Given the description of an element on the screen output the (x, y) to click on. 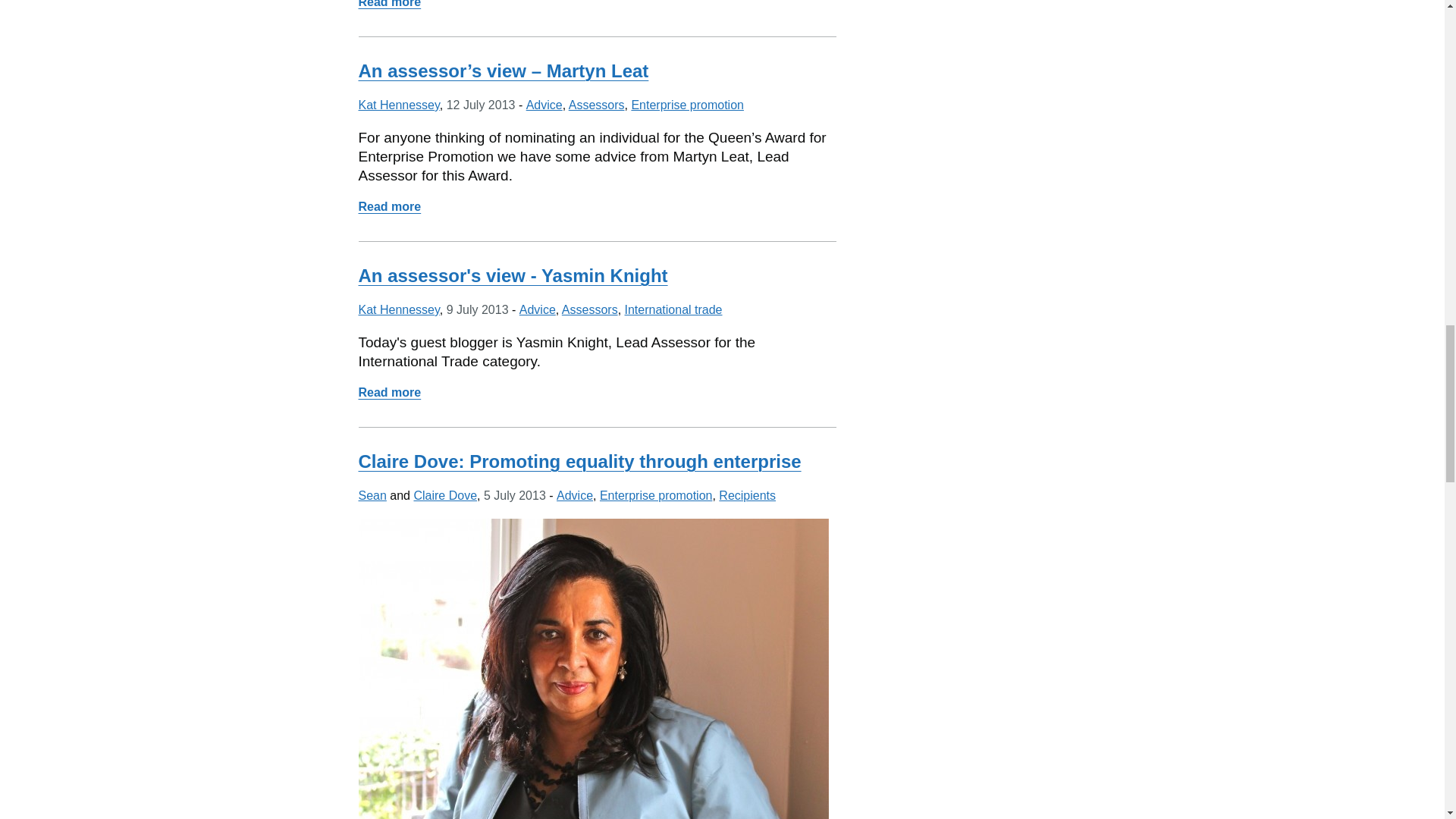
Advice (574, 495)
Enterprise promotion (687, 104)
Posts by Kat Hennessey (398, 104)
Recipients (747, 495)
An assessor's view - Yasmin Knight (512, 275)
Assessors (596, 104)
Kat Hennessey (398, 309)
Assessors (589, 309)
Claire Dove: Promoting equality through enterprise (579, 461)
International trade (389, 391)
Sean (673, 309)
Posts by Sean (371, 495)
Enterprise promotion (371, 495)
Advice (656, 495)
